Given the description of an element on the screen output the (x, y) to click on. 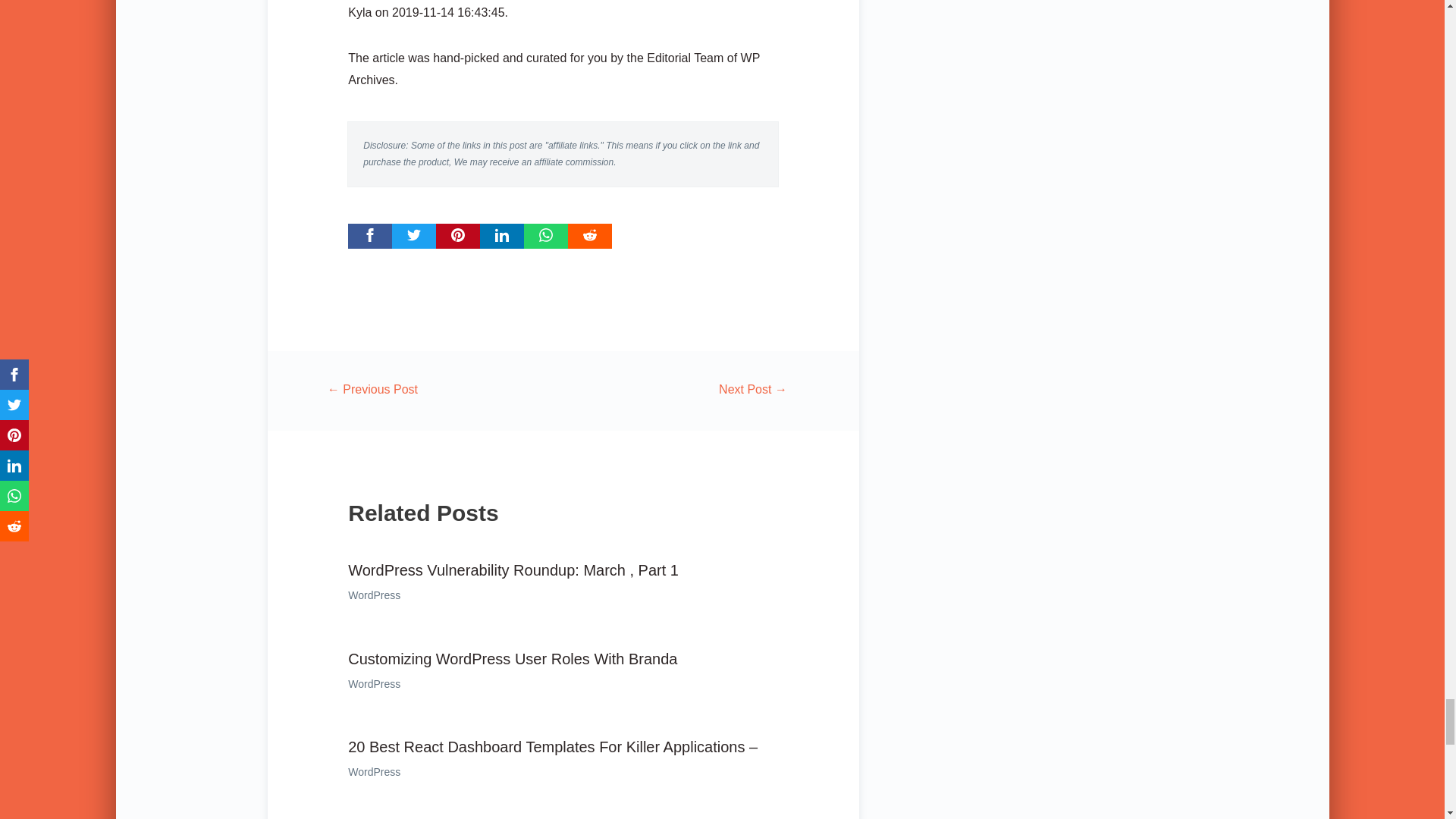
WordPress (373, 594)
WordPress (373, 684)
WordPress Vulnerability Roundup: March , Part 1 (512, 569)
Customizing WordPress User Roles With Branda (512, 658)
WordPress (373, 771)
